Given the description of an element on the screen output the (x, y) to click on. 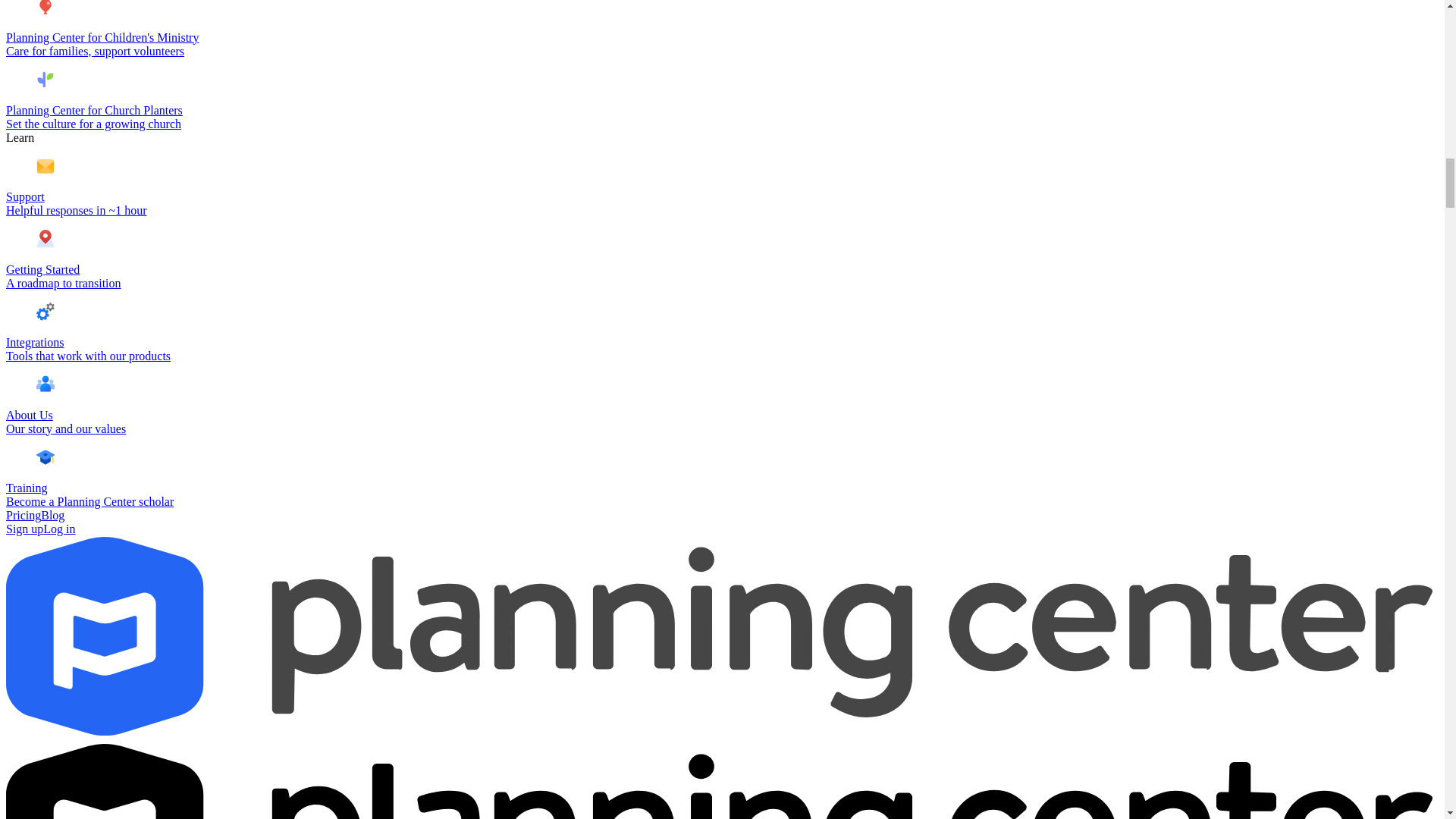
Log in (59, 528)
Pricing (22, 514)
Sign up (24, 528)
Blog (52, 514)
